Given the description of an element on the screen output the (x, y) to click on. 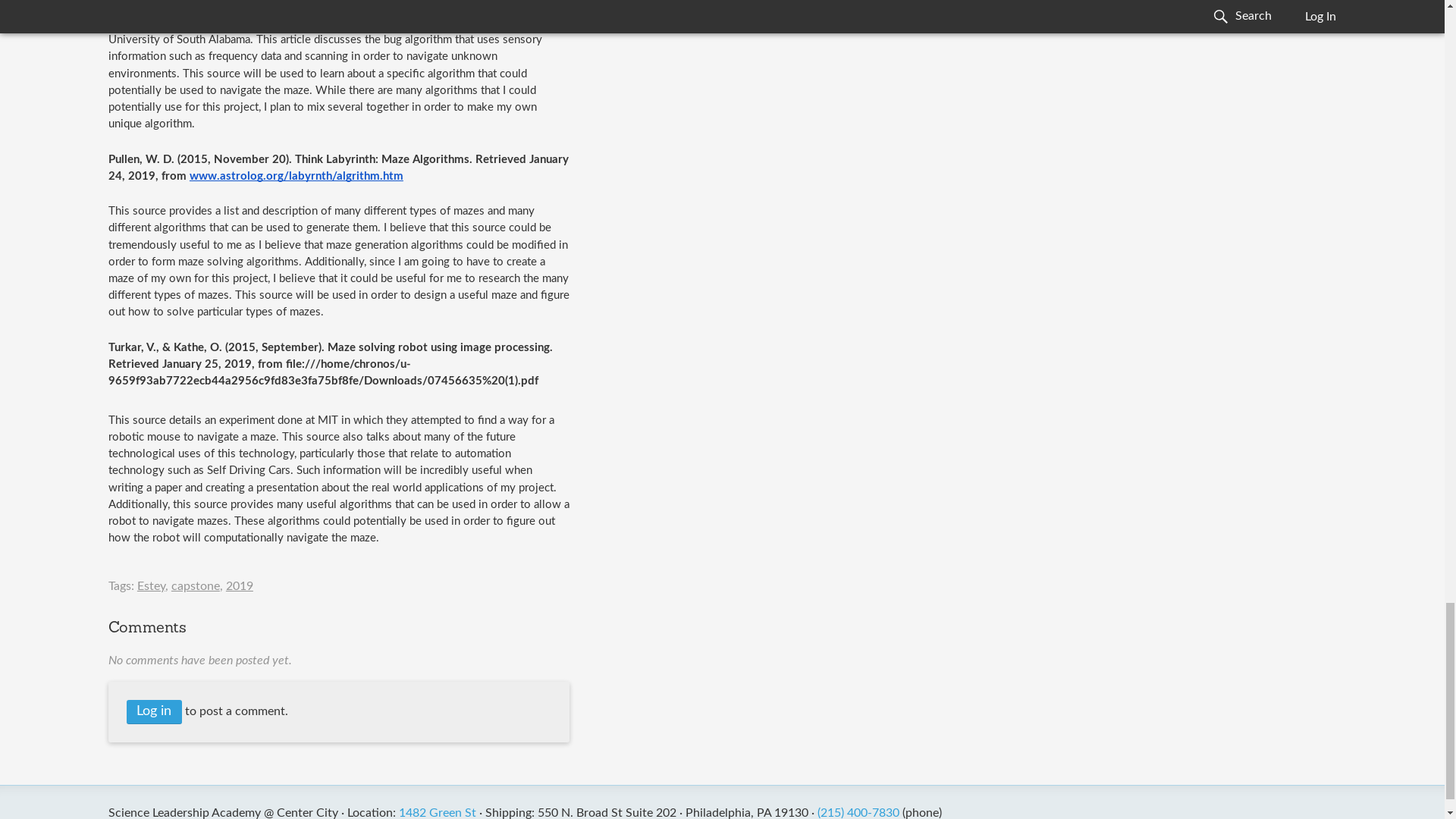
Estey (150, 585)
2019 (239, 585)
Log in (154, 712)
capstone (195, 585)
